Given the description of an element on the screen output the (x, y) to click on. 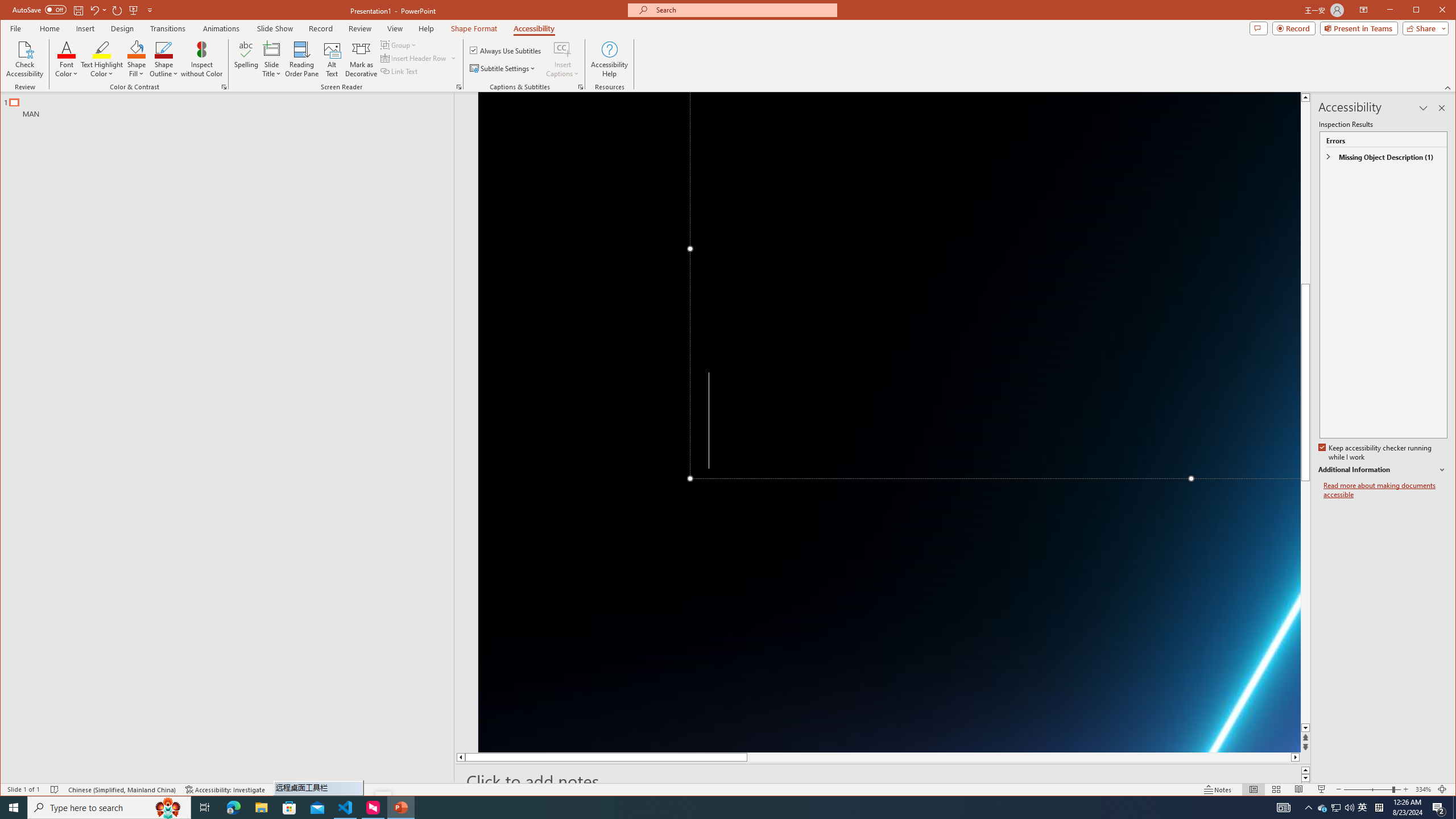
Check Accessibility (25, 59)
Additional Information (1382, 469)
Alt Text (331, 59)
Link Text (399, 70)
Insert Captions (562, 59)
AutomationID: 4105 (1283, 807)
Text Highlight Color No Color (102, 48)
Neon laser lights aligned to form a triangle (889, 421)
Zoom 334% (1422, 789)
